Given the description of an element on the screen output the (x, y) to click on. 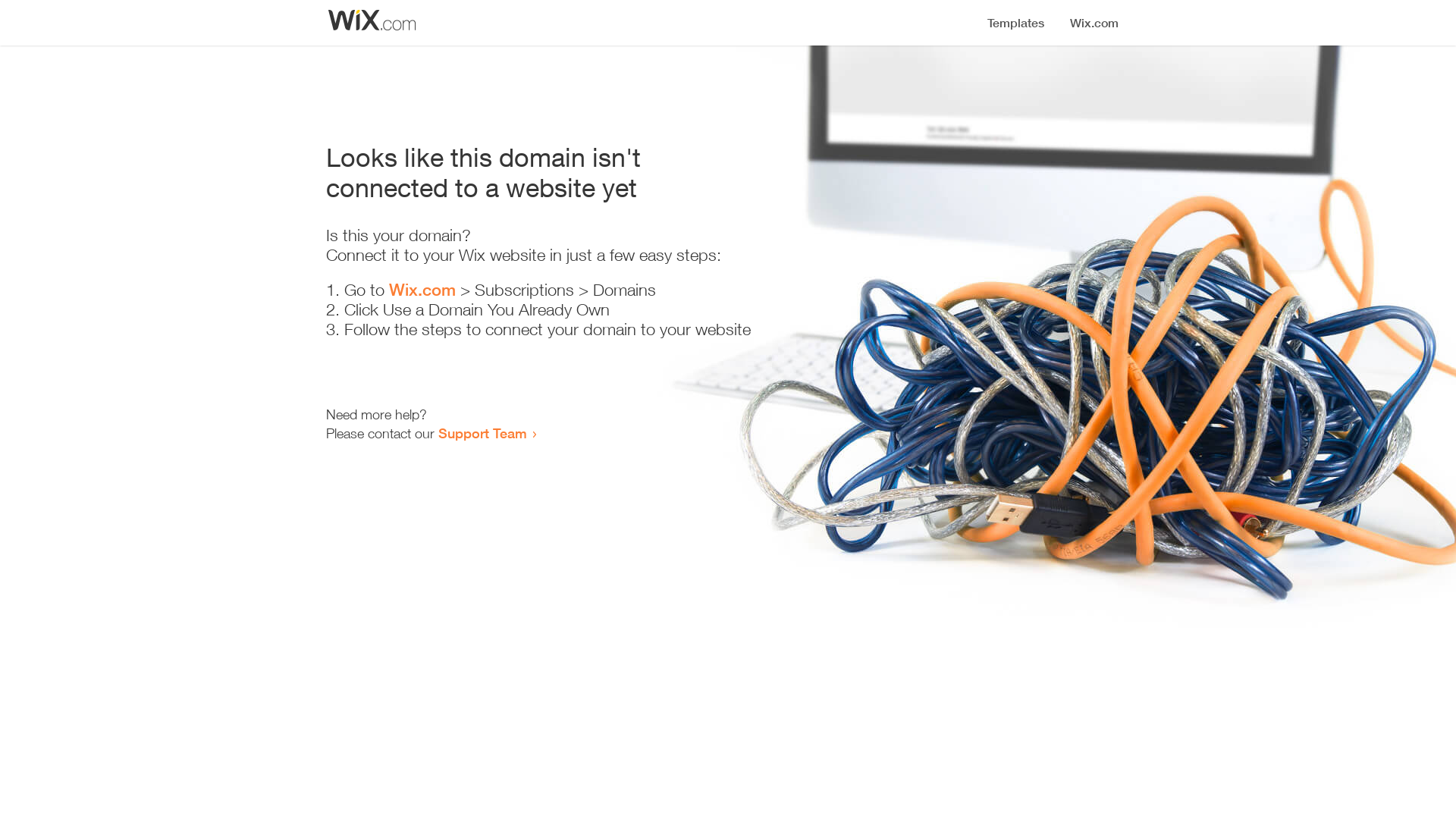
Support Team Element type: text (482, 432)
Wix.com Element type: text (422, 289)
